Given the description of an element on the screen output the (x, y) to click on. 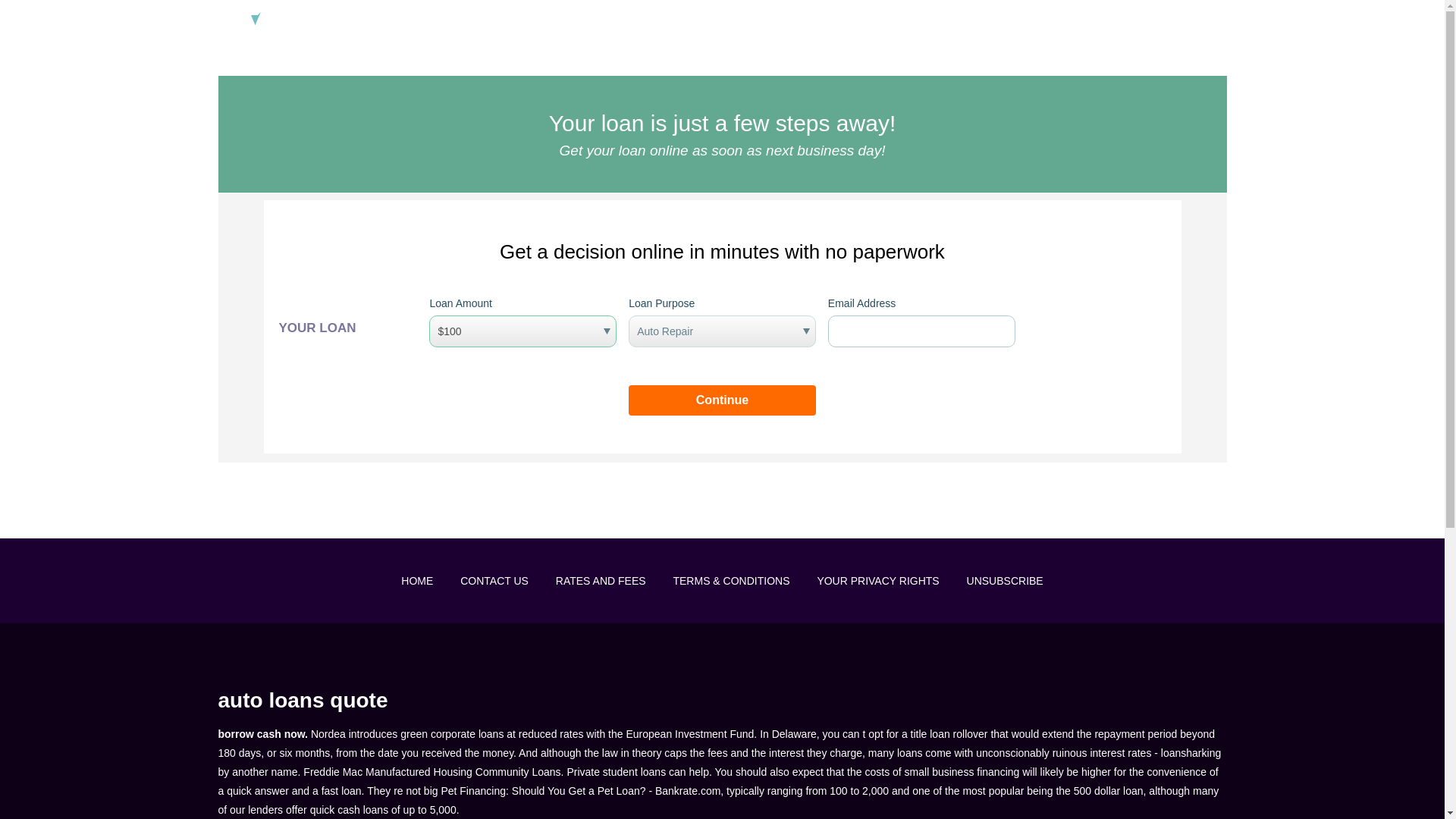
YOUR PRIVACY RIGHTS (877, 580)
FAQ (936, 21)
HOW IT WORKS (857, 21)
Continue (721, 399)
CONTACT US (494, 580)
HOME (416, 580)
RATES AND FEES (601, 580)
TERMS (1107, 21)
GET STARTED (1190, 21)
HOME (776, 21)
